Given the description of an element on the screen output the (x, y) to click on. 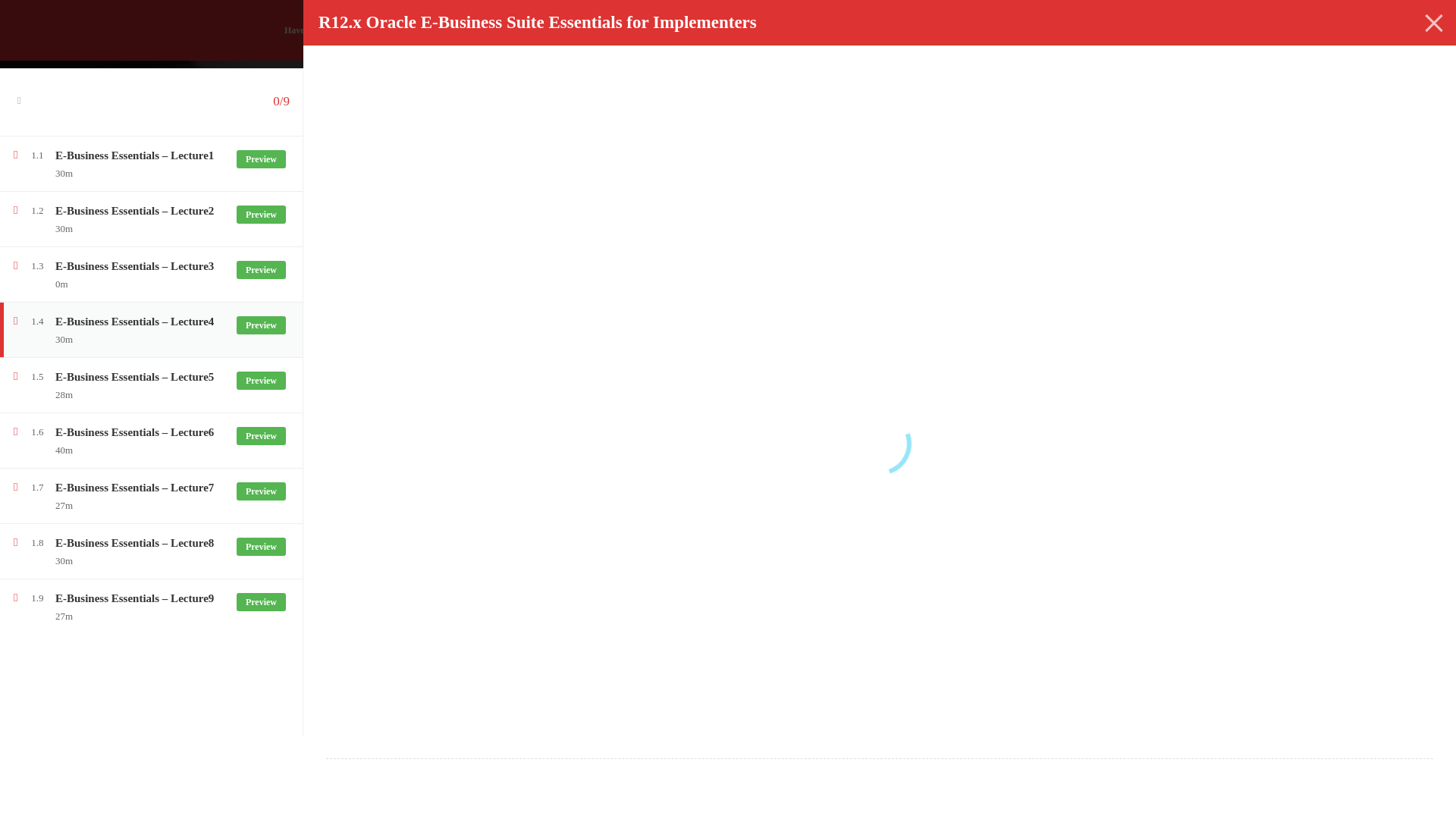
R12.x Oracle E-Business Suite Essentials for Implementers (585, 348)
Home (302, 349)
Search (1153, 107)
SCHEDULE (837, 114)
HOME (610, 114)
Free Training (433, 349)
FAQS (912, 114)
COURSES (685, 114)
Register (1115, 29)
BLOG (759, 114)
Search (1153, 107)
Login (1156, 29)
Login (800, 435)
ABOUT US (986, 114)
